Given the description of an element on the screen output the (x, y) to click on. 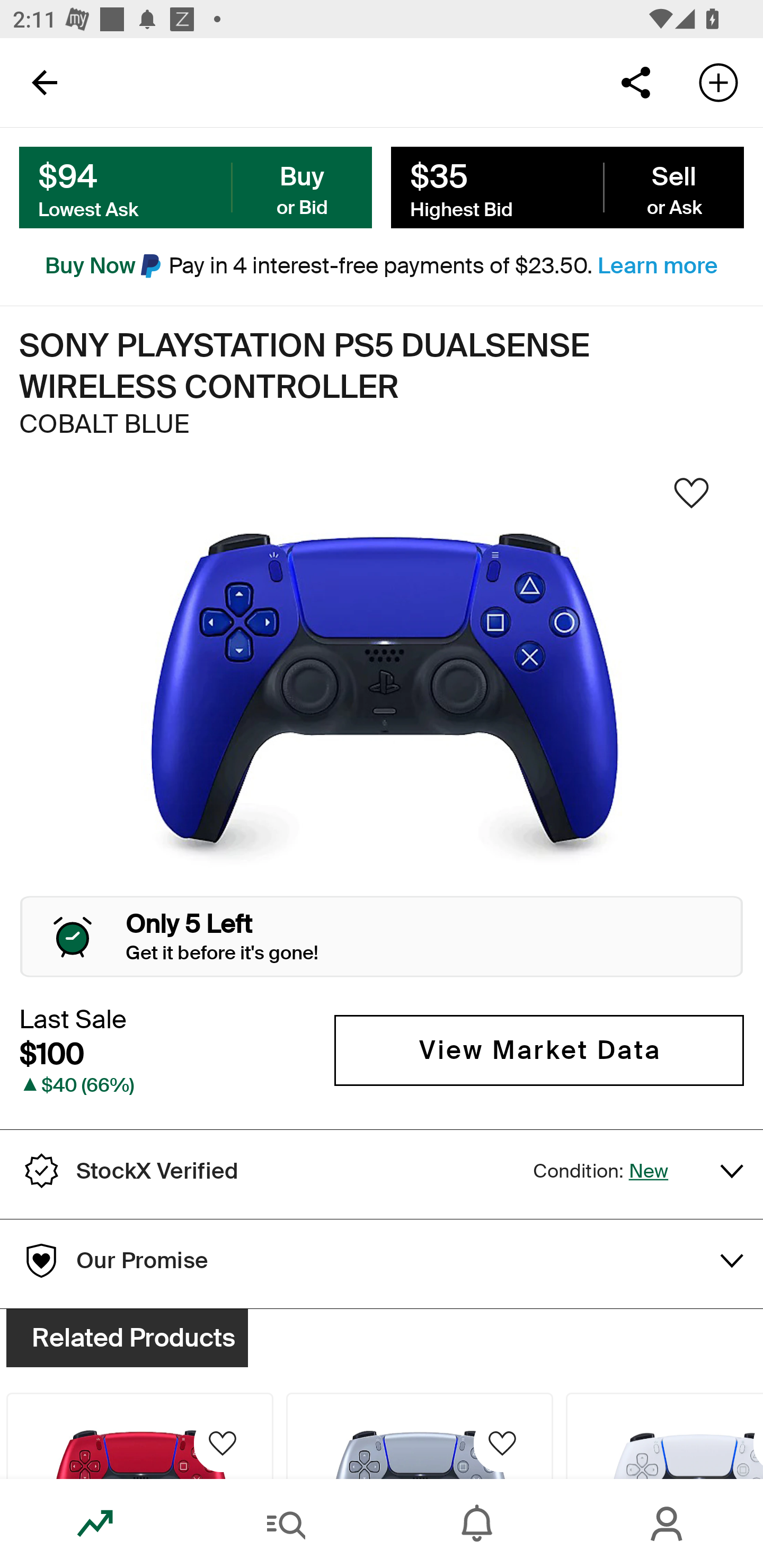
Share (635, 81)
Add (718, 81)
$233 Buy Lowest Ask or Bid (195, 187)
$219 Sell Highest Bid or Ask (566, 187)
Sneaker Image (381, 698)
View Market Data (538, 1050)
Search (285, 1523)
Inbox (476, 1523)
Account (667, 1523)
